Given the description of an element on the screen output the (x, y) to click on. 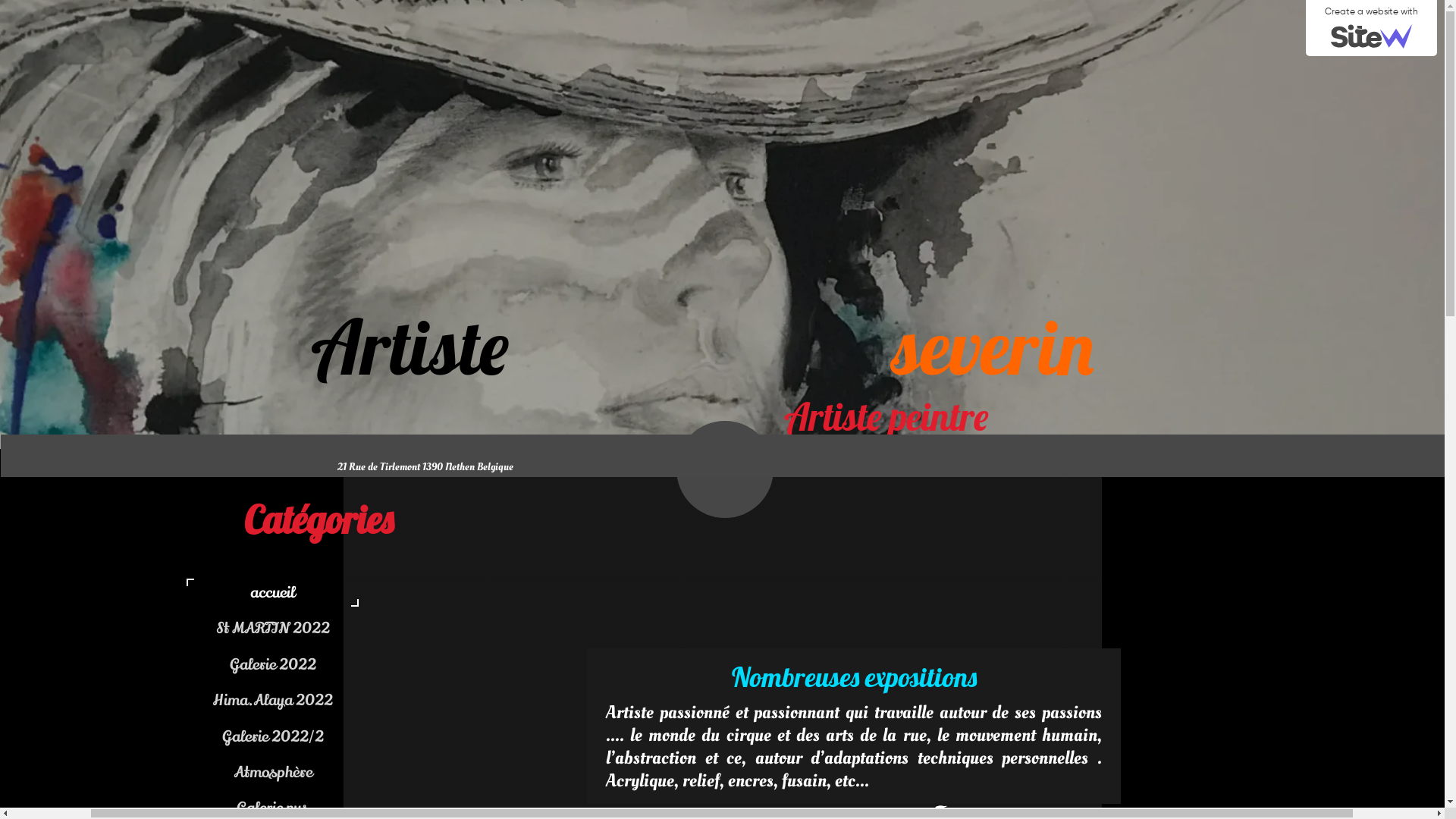
Hima.Alaya 2022 Element type: text (363, 700)
accueil Element type: text (363, 592)
Galerie 2022/2 Element type: text (363, 736)
St MARTIN 2022 Element type: text (363, 628)
Galerie 2022 Element type: text (363, 664)
